Given the description of an element on the screen output the (x, y) to click on. 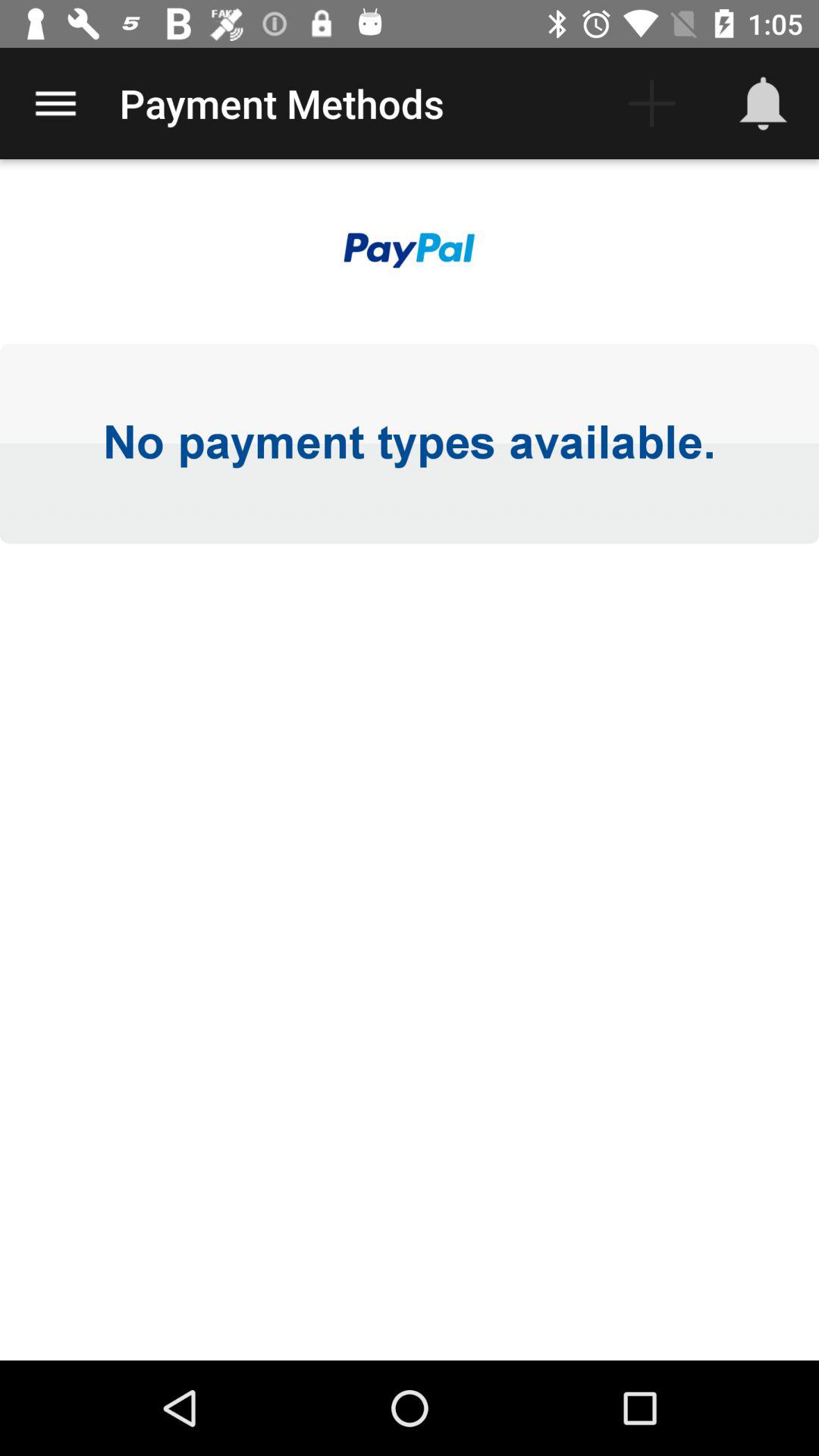
turn off app to the right of payment methods item (651, 103)
